Given the description of an element on the screen output the (x, y) to click on. 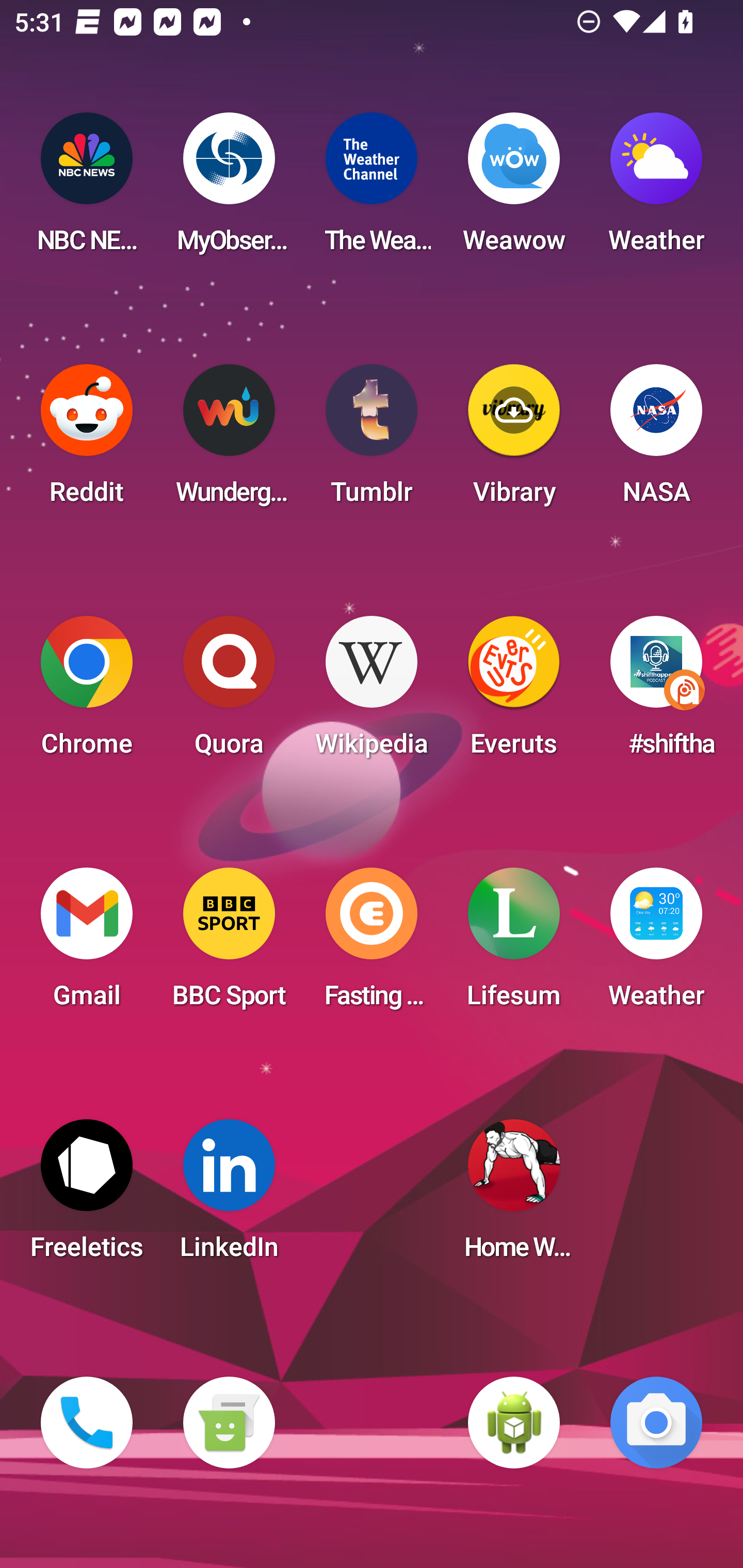
NBC NEWS (86, 188)
MyObservatory (228, 188)
The Weather Channel (371, 188)
Weawow (513, 188)
Weather (656, 188)
Reddit (86, 440)
Wunderground (228, 440)
Tumblr (371, 440)
Vibrary (513, 440)
NASA (656, 440)
Chrome (86, 692)
Quora (228, 692)
Wikipedia (371, 692)
Everuts (513, 692)
#shifthappens in the Digital Workplace Podcast (656, 692)
Gmail (86, 943)
BBC Sport (228, 943)
Fasting Coach (371, 943)
Lifesum (513, 943)
Weather (656, 943)
Freeletics (86, 1195)
LinkedIn (228, 1195)
Home Workout (513, 1195)
Phone (86, 1422)
Messaging (228, 1422)
WebView Browser Tester (513, 1422)
Camera (656, 1422)
